Given the description of an element on the screen output the (x, y) to click on. 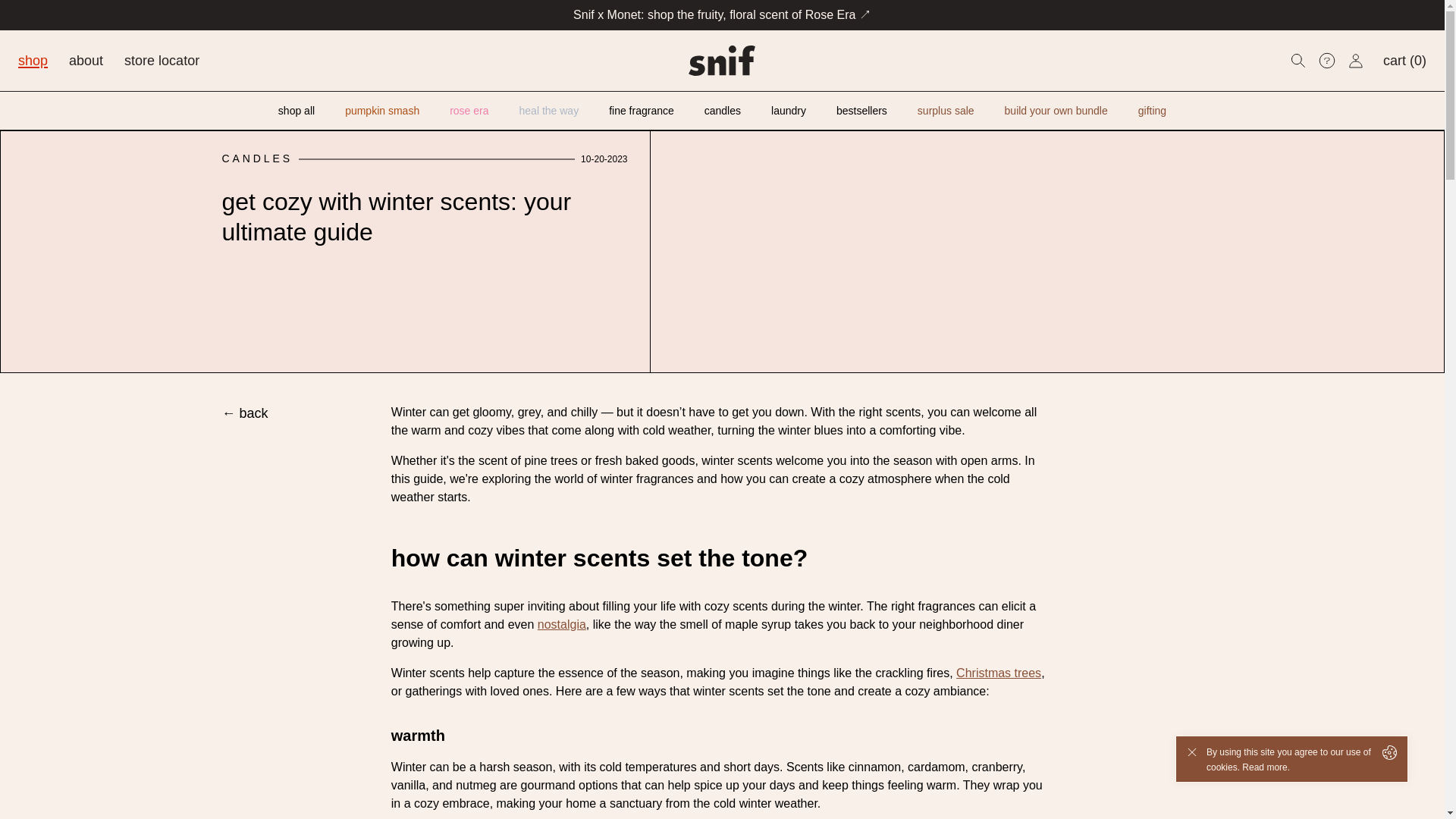
rose era (468, 110)
Account (1355, 60)
store locator (161, 60)
Help (1326, 60)
shop (32, 60)
heal the way (549, 110)
candles (722, 110)
Search (1297, 60)
pumpkin smash (382, 110)
fine fragrance (641, 110)
